Given the description of an element on the screen output the (x, y) to click on. 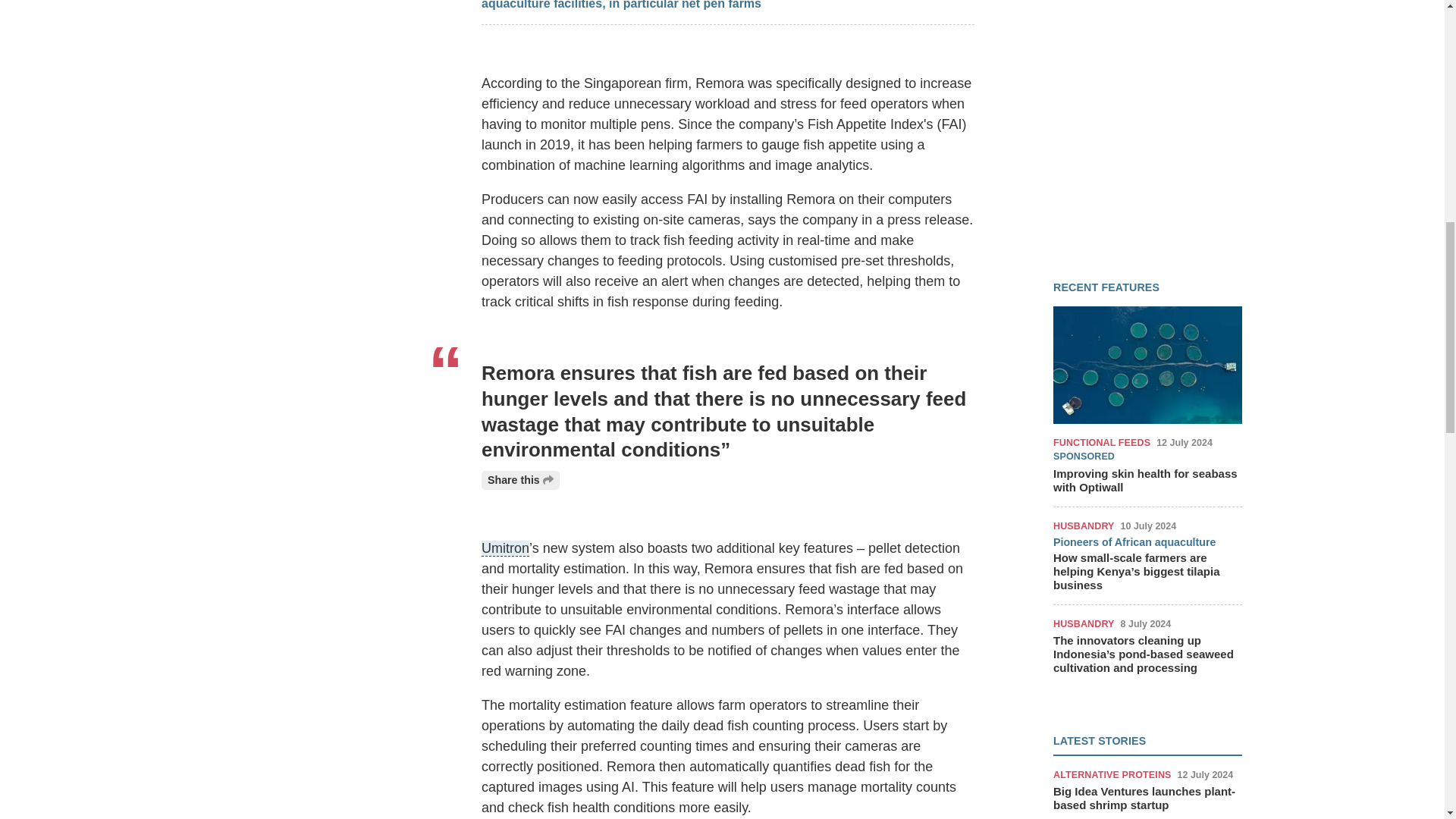
Share this quote on social media (520, 479)
